Given the description of an element on the screen output the (x, y) to click on. 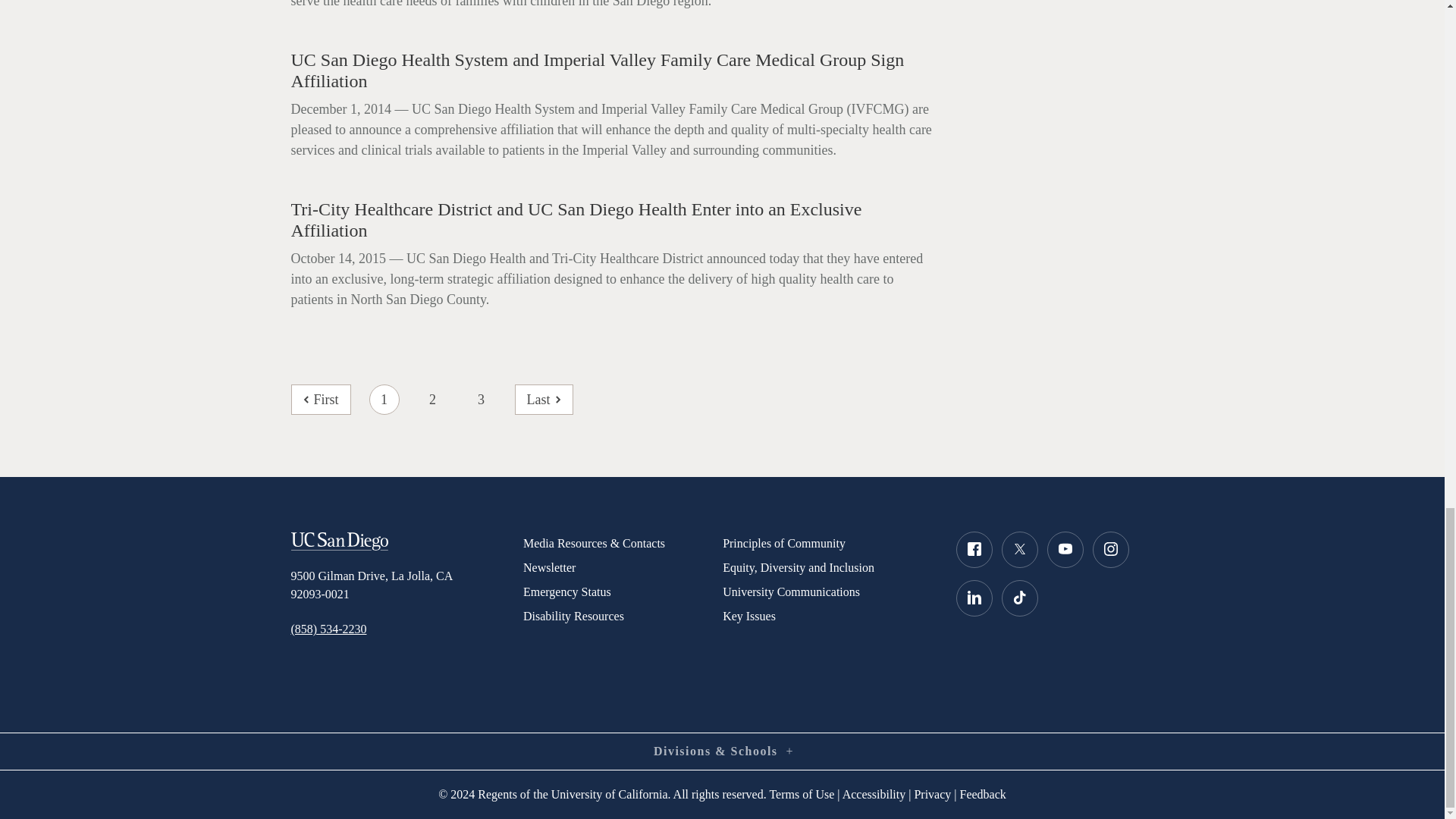
Principles of Community (826, 543)
Privacy (932, 793)
Equity, Diversity and Inclusion (826, 567)
Media Contacts (622, 543)
Emergency Status (622, 591)
Key Issues (826, 616)
2 (432, 399)
University Communications (826, 591)
Last (544, 399)
1 (383, 399)
